Given the description of an element on the screen output the (x, y) to click on. 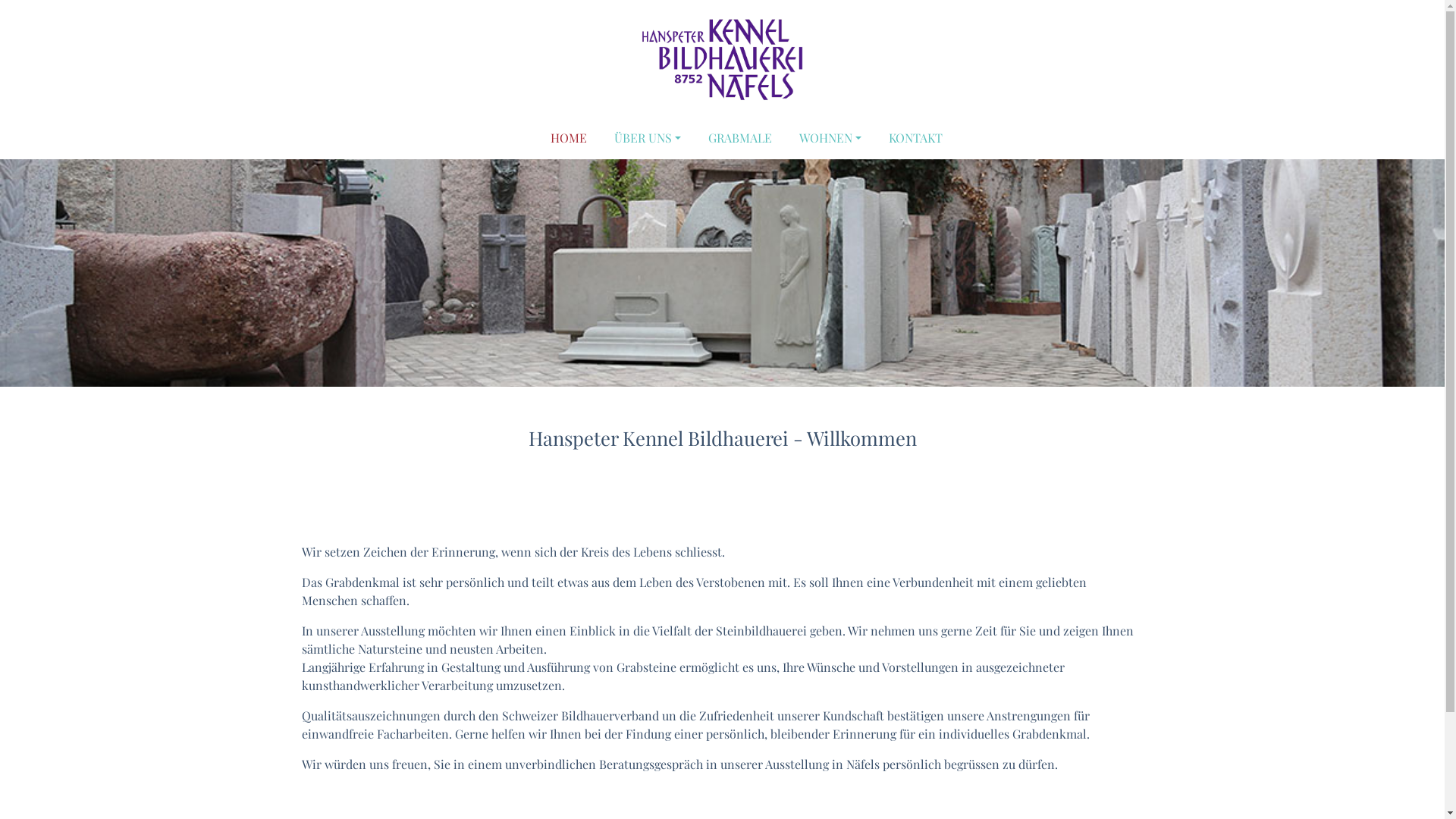
HOME Element type: text (568, 137)
WOHNEN Element type: text (830, 137)
GRABMALE Element type: text (740, 137)
KONTAKT Element type: text (915, 137)
